Given the description of an element on the screen output the (x, y) to click on. 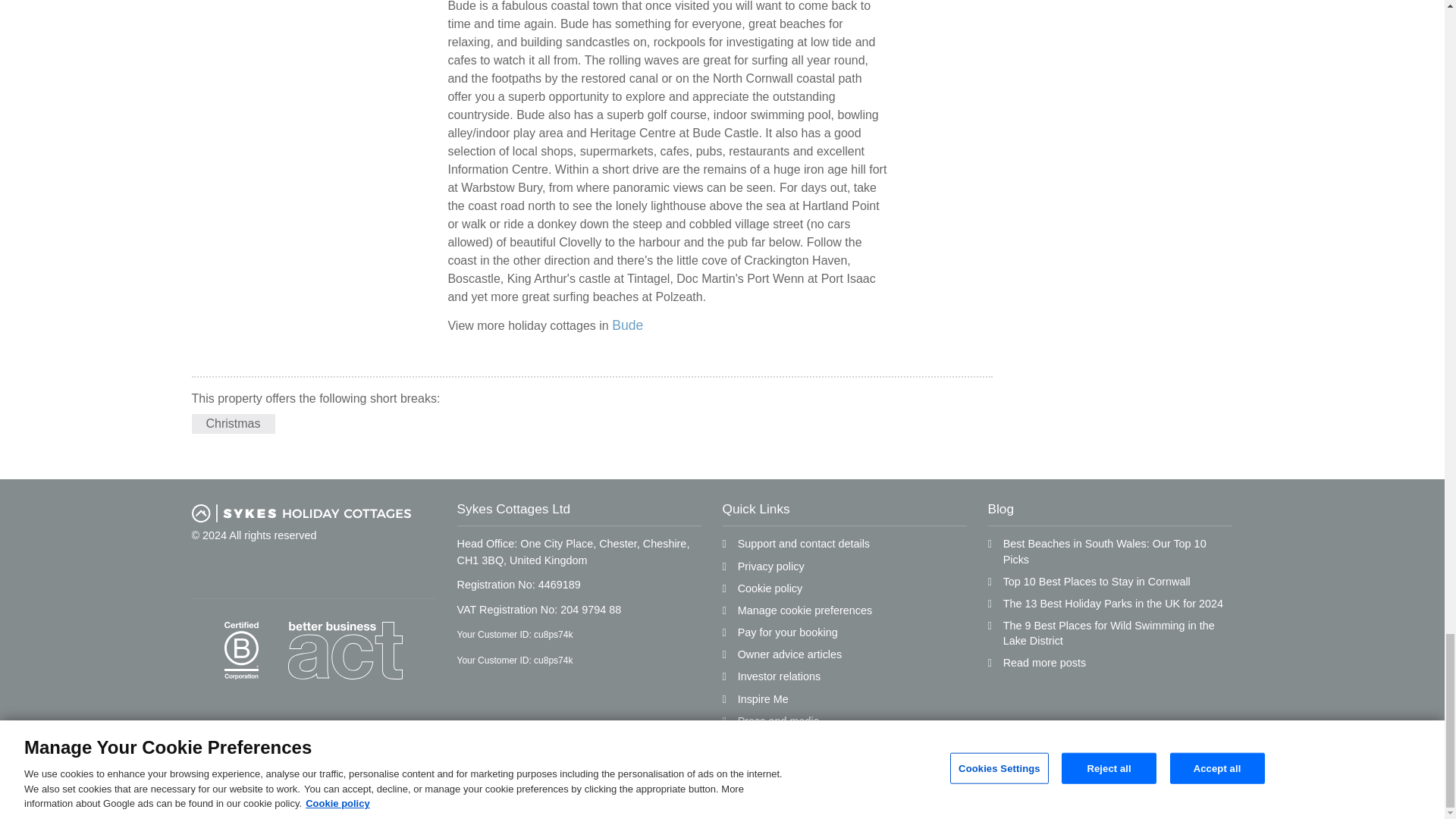
Sykes Cottages (300, 513)
